Given the description of an element on the screen output the (x, y) to click on. 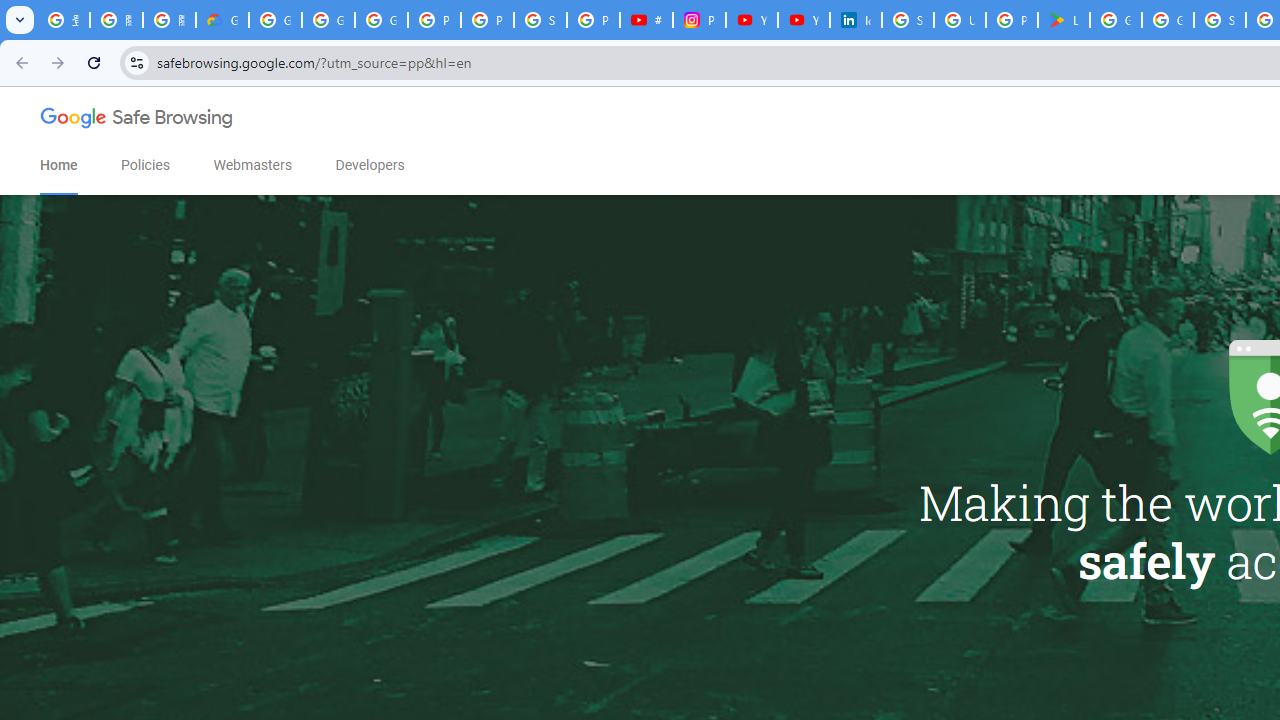
Developers (369, 165)
Webmasters (251, 165)
Google Workspace - Specific Terms (1167, 20)
Last Shelter: Survival - Apps on Google Play (1064, 20)
Google Safe Browsing (137, 121)
#nbabasketballhighlights - YouTube (646, 20)
Sign in - Google Accounts (1219, 20)
Privacy Help Center - Policies Help (487, 20)
